Given the description of an element on the screen output the (x, y) to click on. 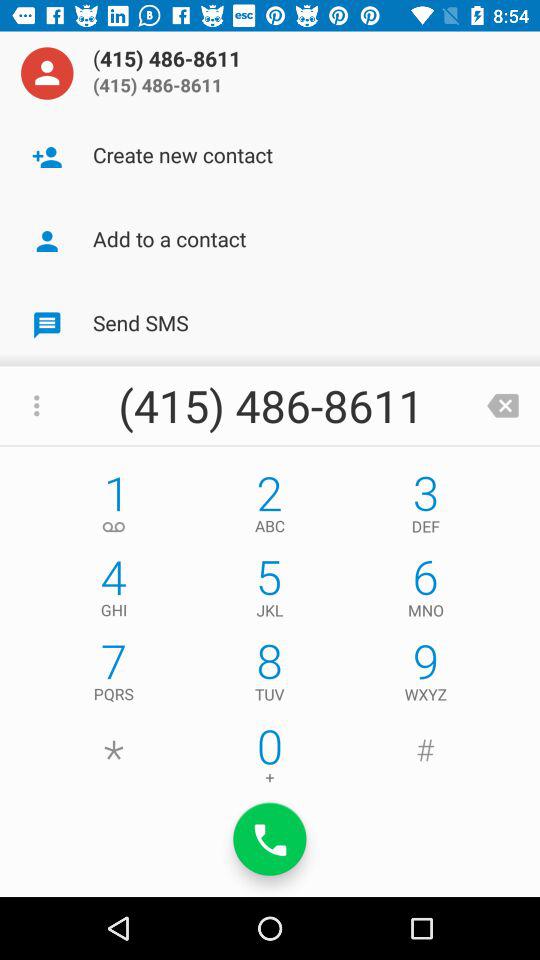
click icon to the left of (415) 486-8611 app (47, 73)
